Given the description of an element on the screen output the (x, y) to click on. 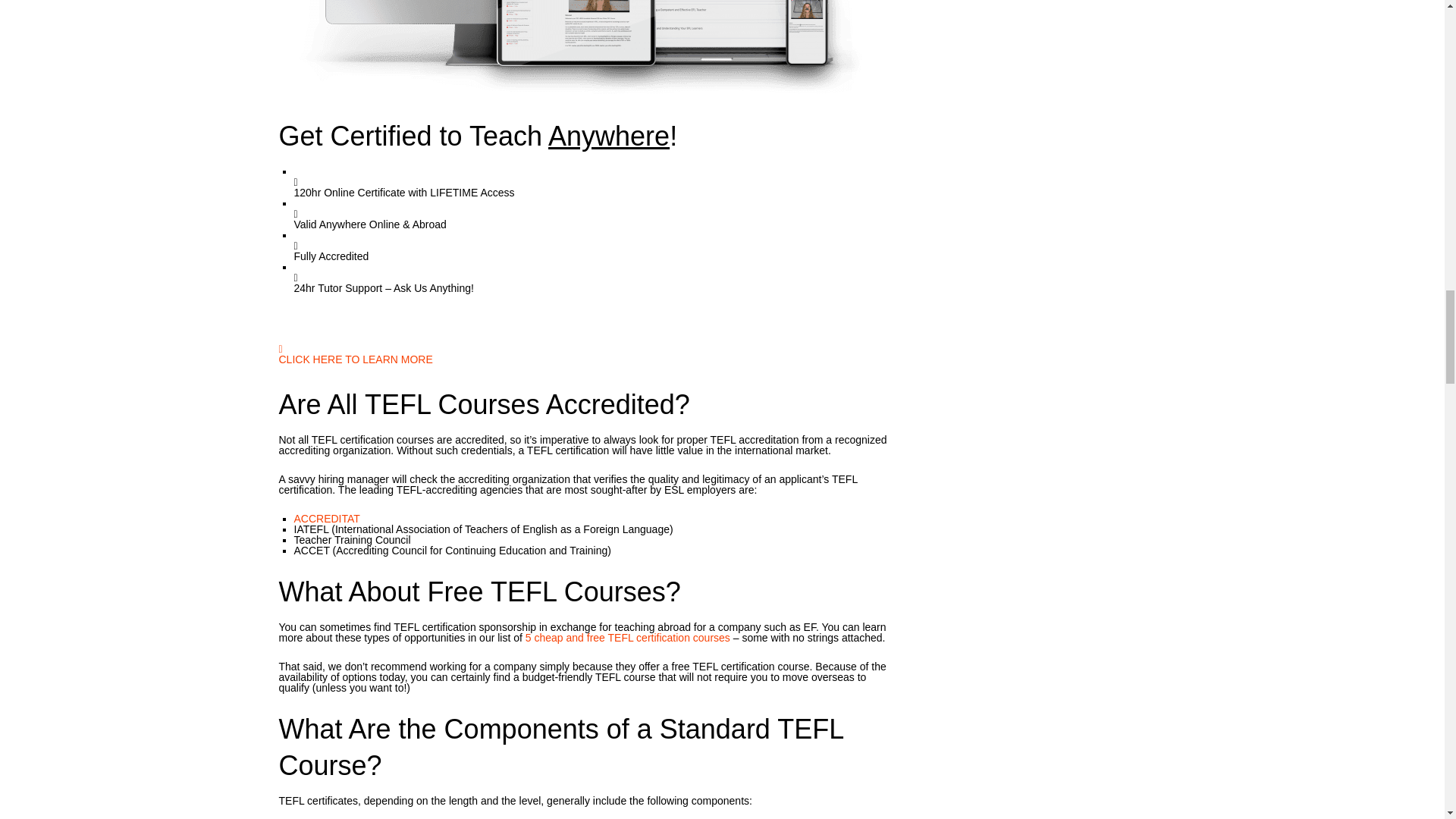
CLICK HERE TO LEARN MORE (355, 375)
5 cheap and free TEFL certification courses (627, 637)
ACCREDITAT (326, 518)
